Given the description of an element on the screen output the (x, y) to click on. 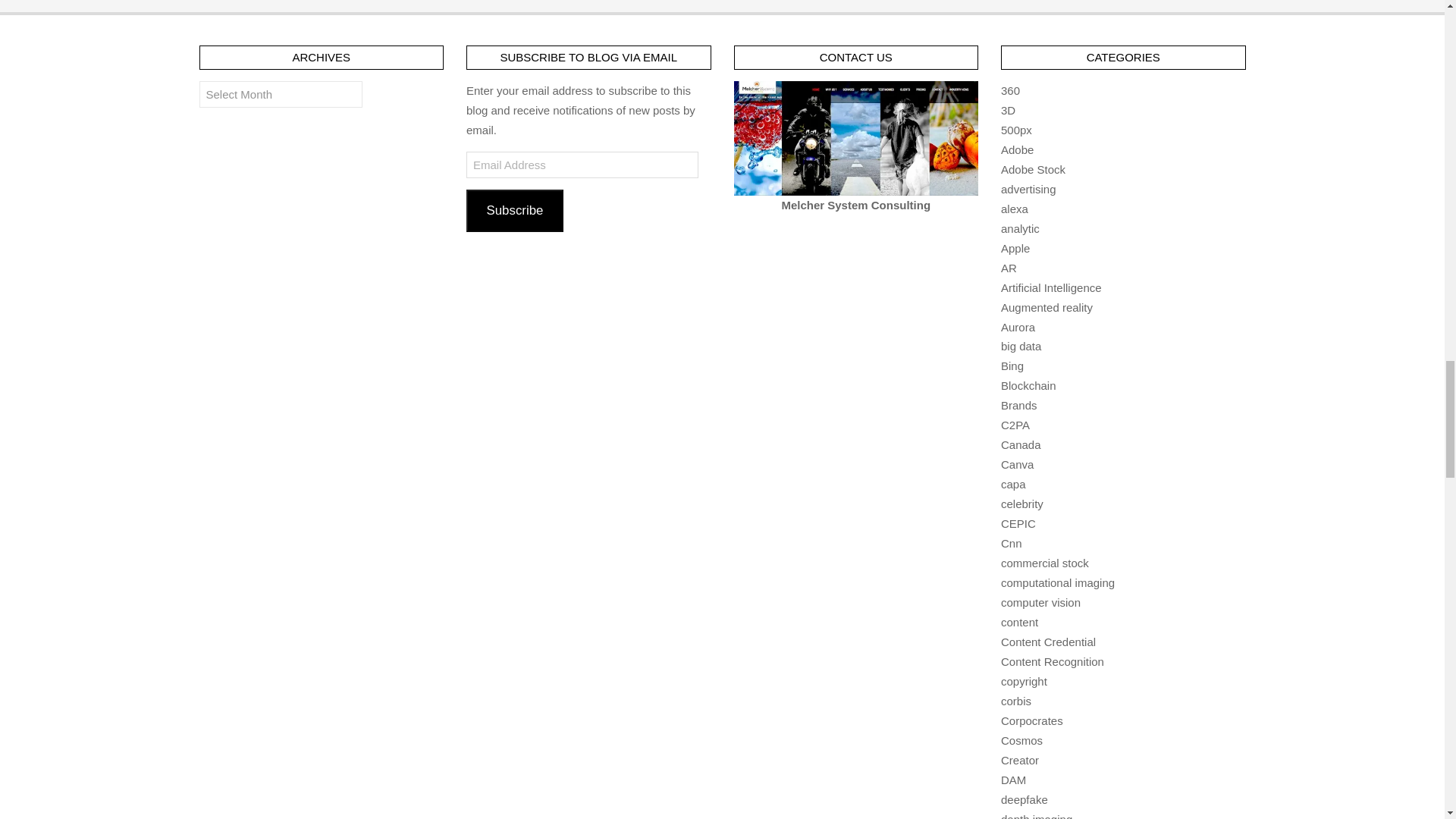
Adobe (1017, 149)
Apple (1015, 247)
3D (1007, 110)
Artificial Intelligence (1051, 287)
Subscribe (514, 210)
AR (1008, 267)
alexa (1014, 208)
360 (1010, 90)
advertising (1029, 188)
Augmented reality (1047, 307)
500px (1016, 129)
Adobe Stock (1033, 169)
analytic (1020, 228)
